Given the description of an element on the screen output the (x, y) to click on. 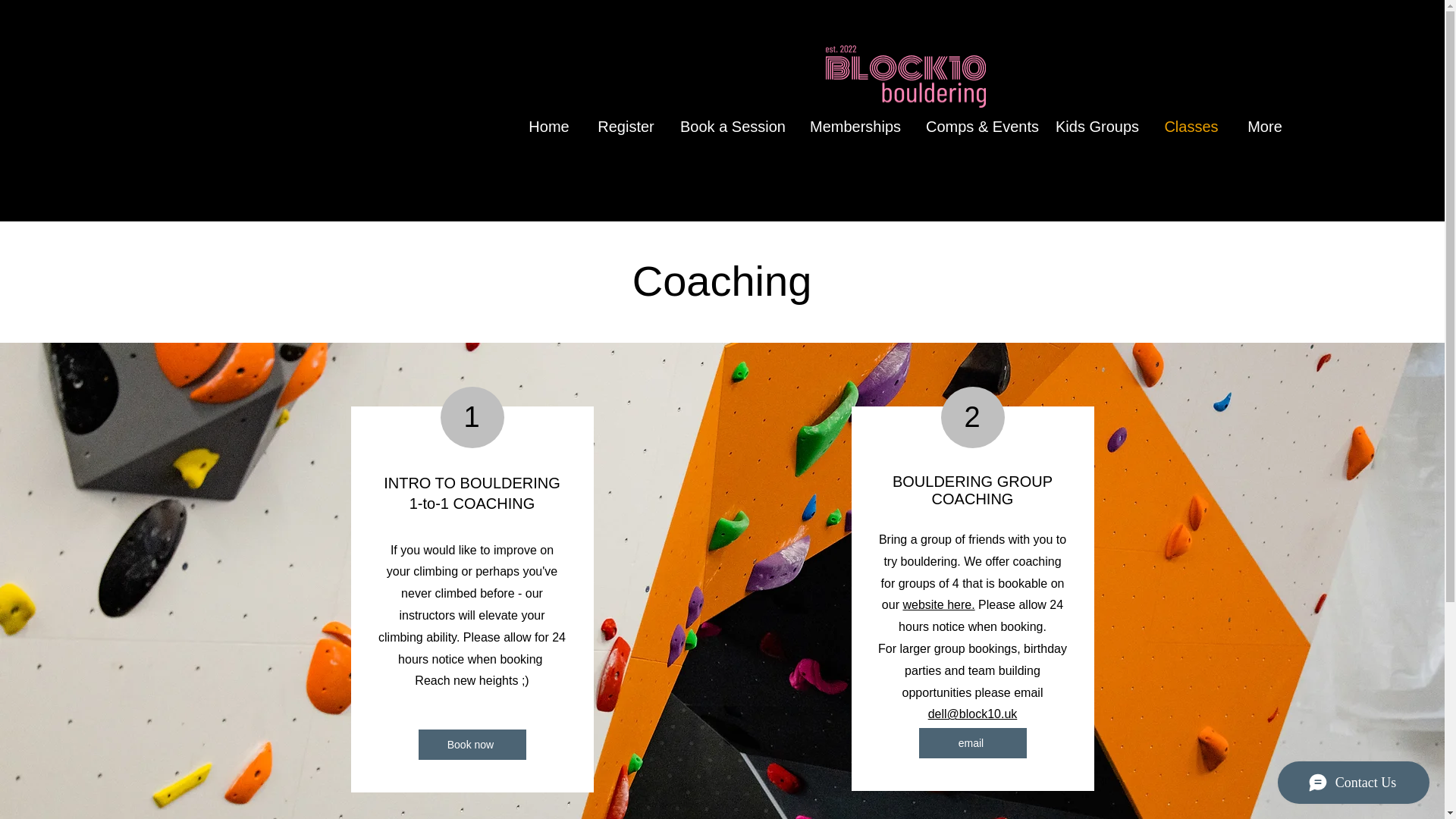
Home (549, 126)
website here. (938, 604)
Register (625, 126)
Kids Groups (1096, 126)
email (972, 743)
Book a Session (732, 126)
Memberships (855, 126)
Book now (472, 744)
Classes (1190, 126)
